Given the description of an element on the screen output the (x, y) to click on. 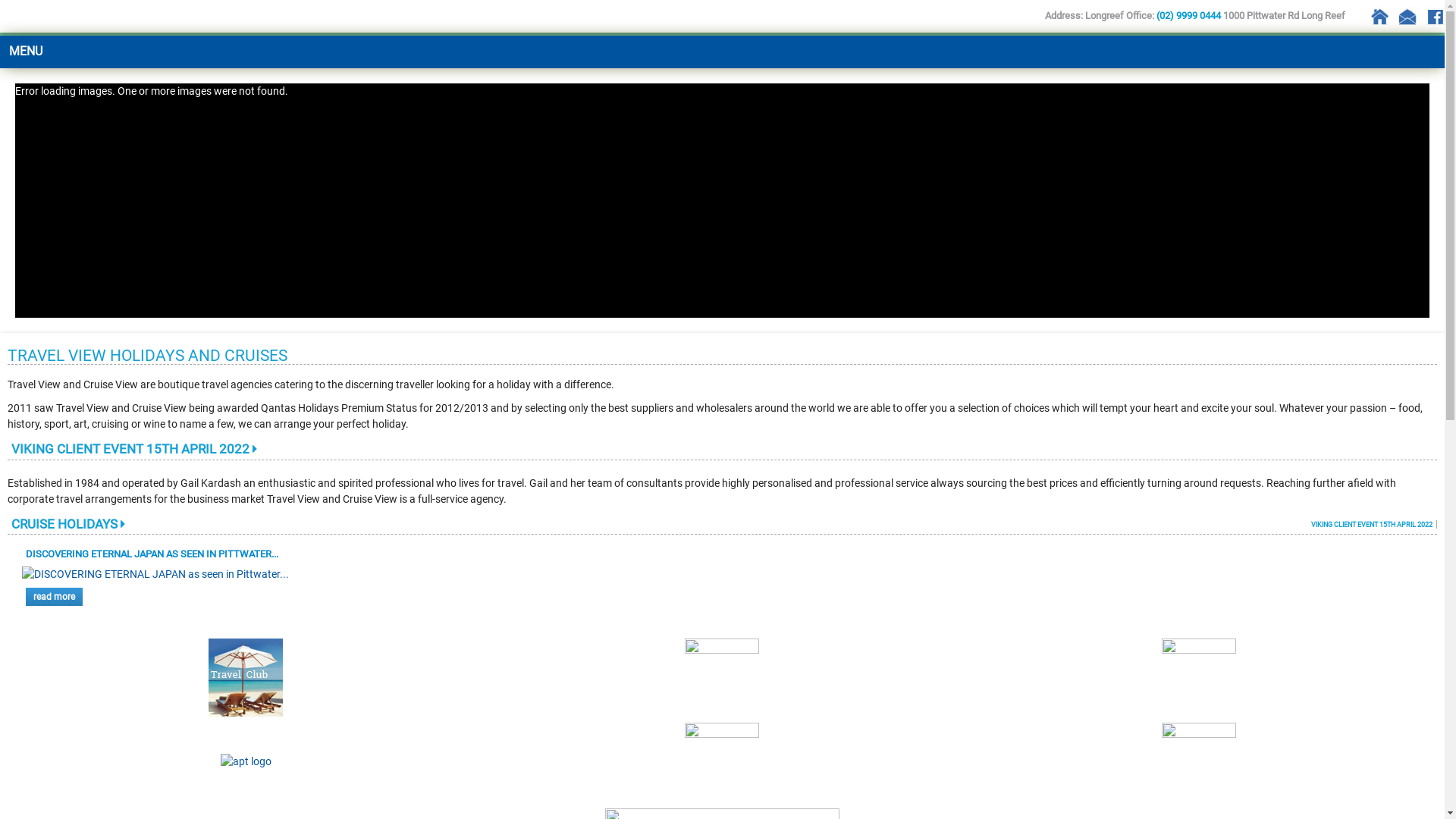
CRUISE HOLIDAYS Element type: text (67, 523)
VIKING CLIENT EVENT 15TH APRIL 2022 Element type: text (133, 448)
DISCOVERING ETERNAL JAPAN as seen in Pittwater... Element type: hover (154, 574)
VIKING CLIENT EVENT 15TH APRIL 2022 Element type: text (1373, 524)
read more Element type: text (53, 596)
DISCOVERING ETERNAL JAPAN AS SEEN IN PITTWATER... Element type: text (151, 553)
